Given the description of an element on the screen output the (x, y) to click on. 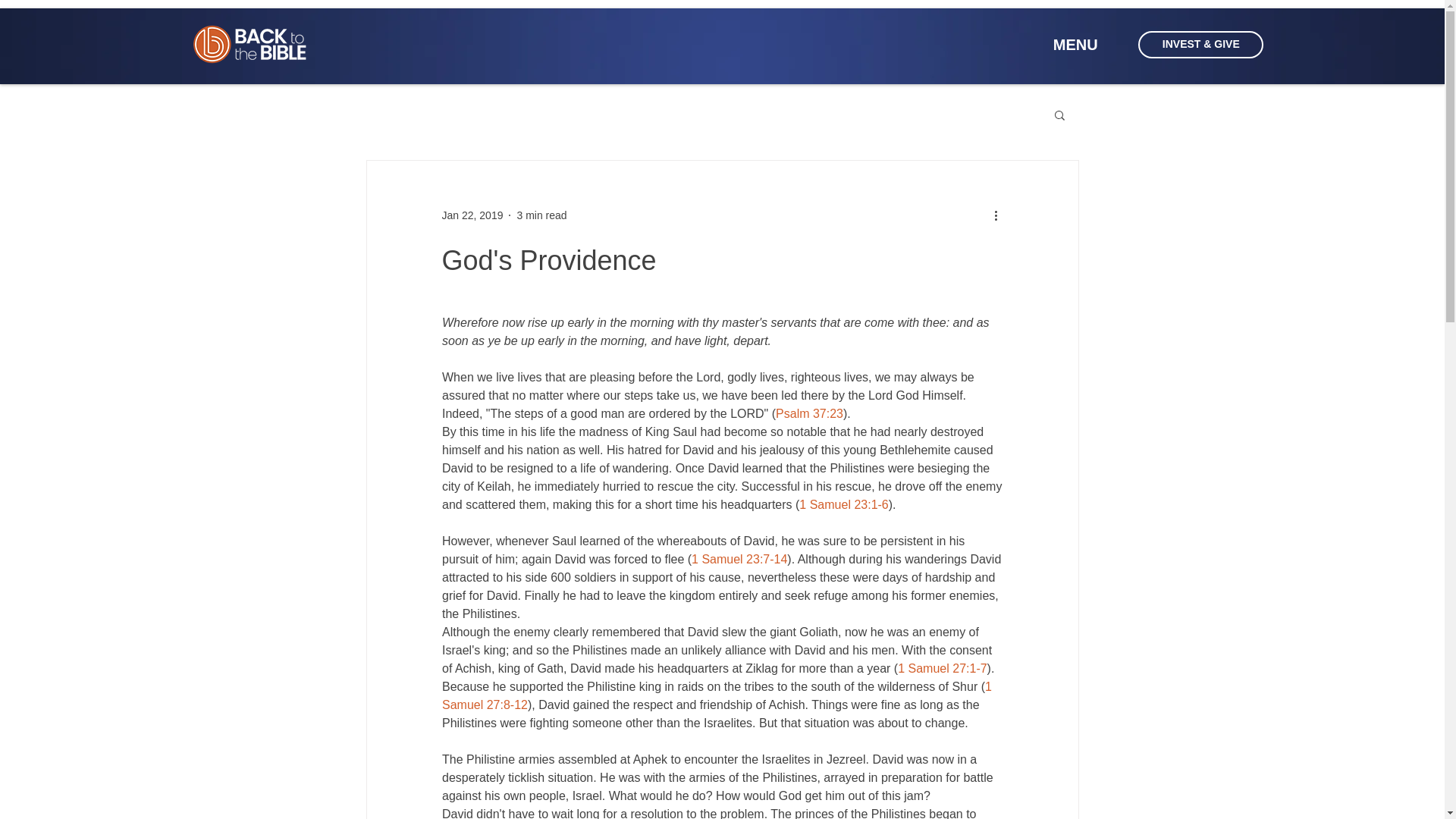
3 min read (541, 215)
Psalm 37:23 (809, 413)
1 Samuel 27:1-7 (942, 667)
Jan 22, 2019 (471, 215)
1 Samuel 27:8-12 (717, 695)
1 Samuel 23:7-14 (739, 558)
1 Samuel 23:1-6 (843, 504)
